Given the description of an element on the screen output the (x, y) to click on. 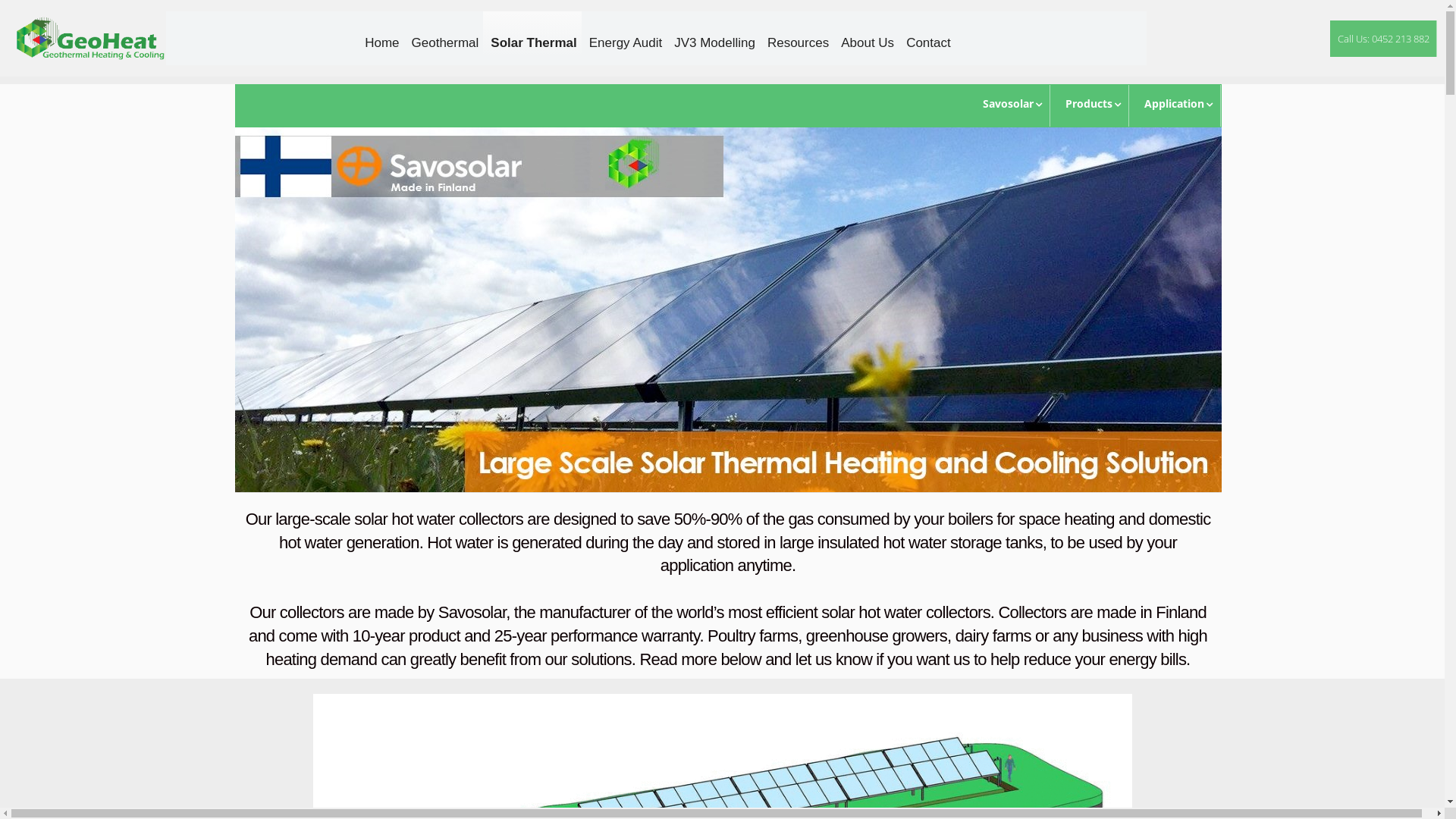
Savosolar Element type: text (1008, 105)
Application Element type: text (1174, 105)
Call Us: 0452 213 882 Element type: text (1383, 37)
Geothermal Element type: text (443, 33)
JV3 Modelling Element type: text (712, 33)
Resources Element type: text (796, 33)
Energy Audit Element type: text (623, 33)
Products Element type: text (1088, 105)
About Us Element type: text (865, 33)
Solar Thermal Element type: text (531, 33)
Home Element type: text (380, 33)
Contact Element type: text (926, 33)
